Given the description of an element on the screen output the (x, y) to click on. 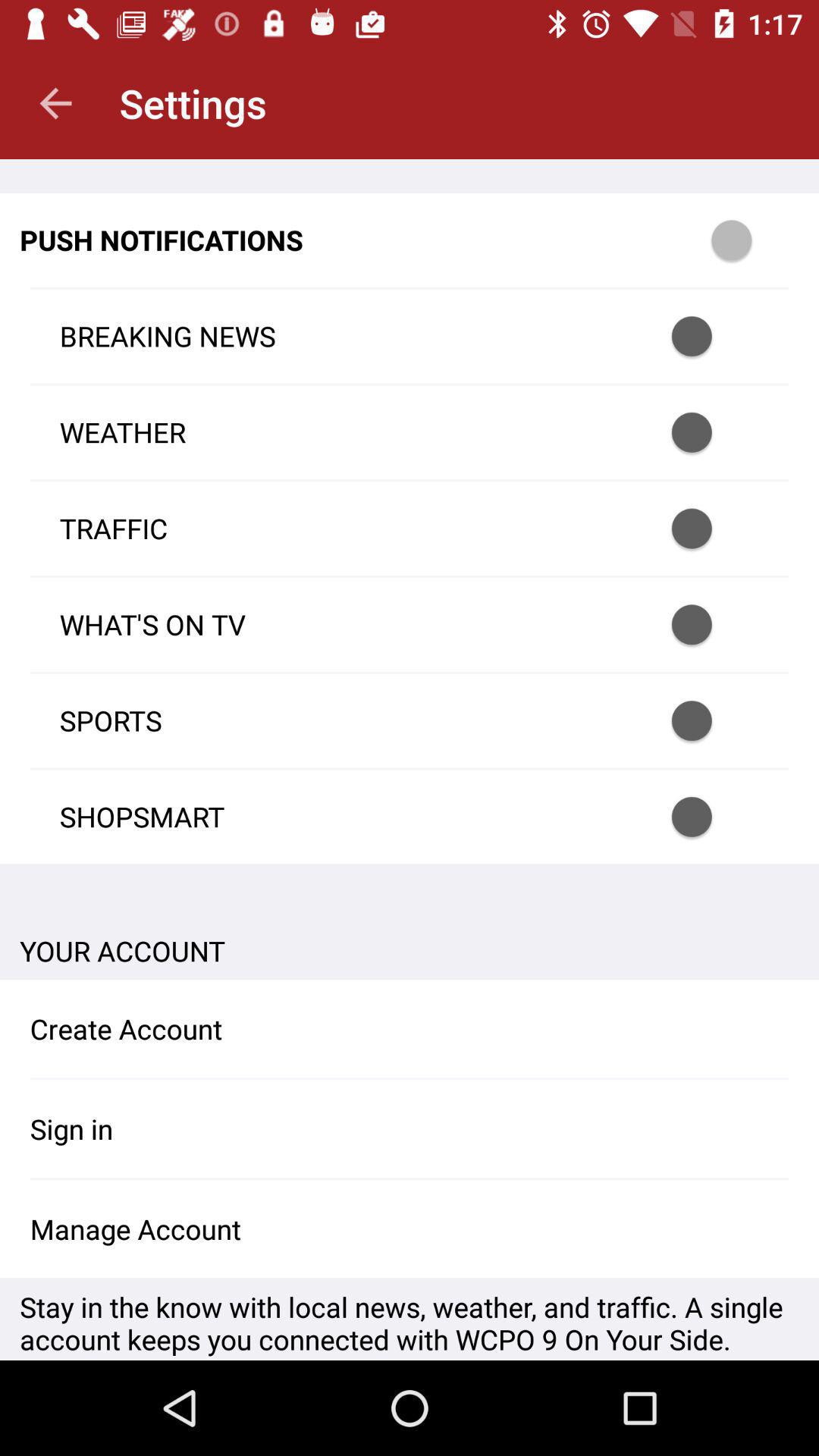
toggle breaking news (711, 336)
